Given the description of an element on the screen output the (x, y) to click on. 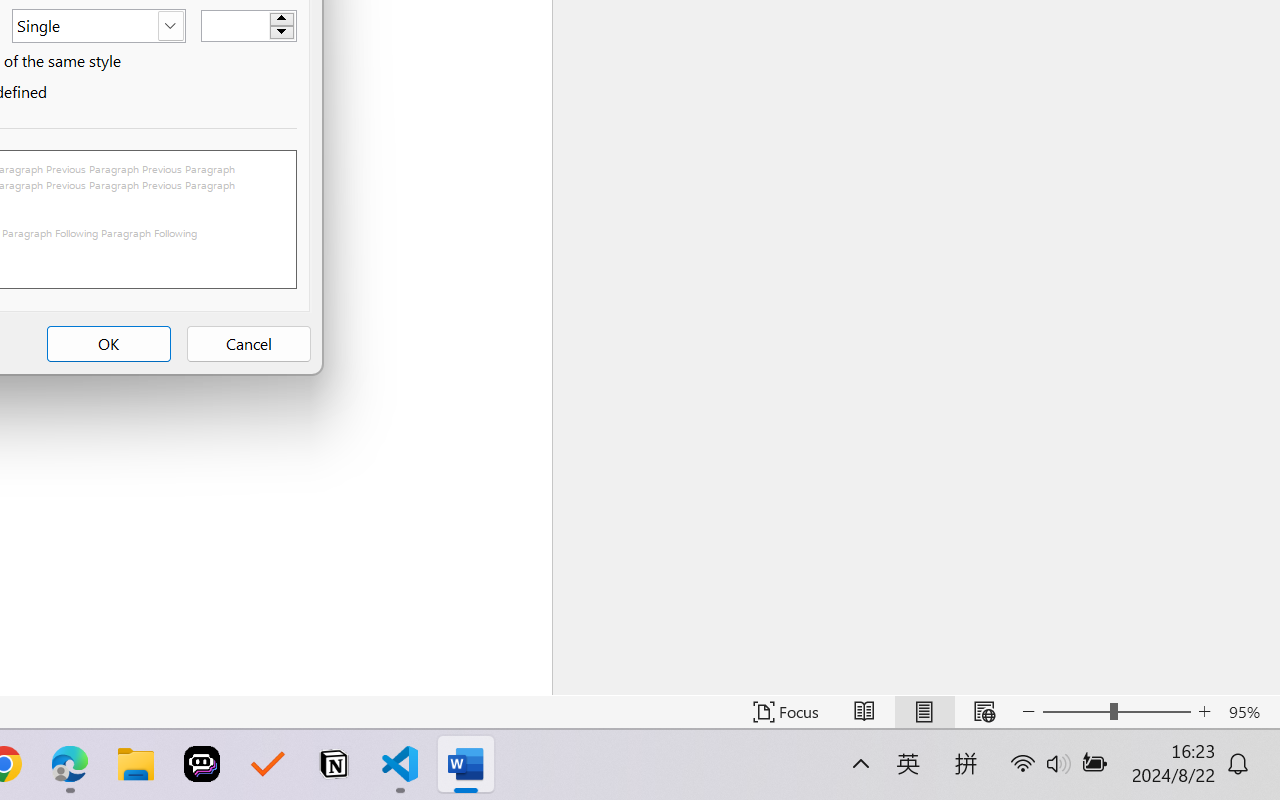
At: (248, 25)
Notion (333, 764)
Poe (201, 764)
Line spacing: (98, 25)
OK (108, 343)
RichEdit Control (235, 25)
